Given the description of an element on the screen output the (x, y) to click on. 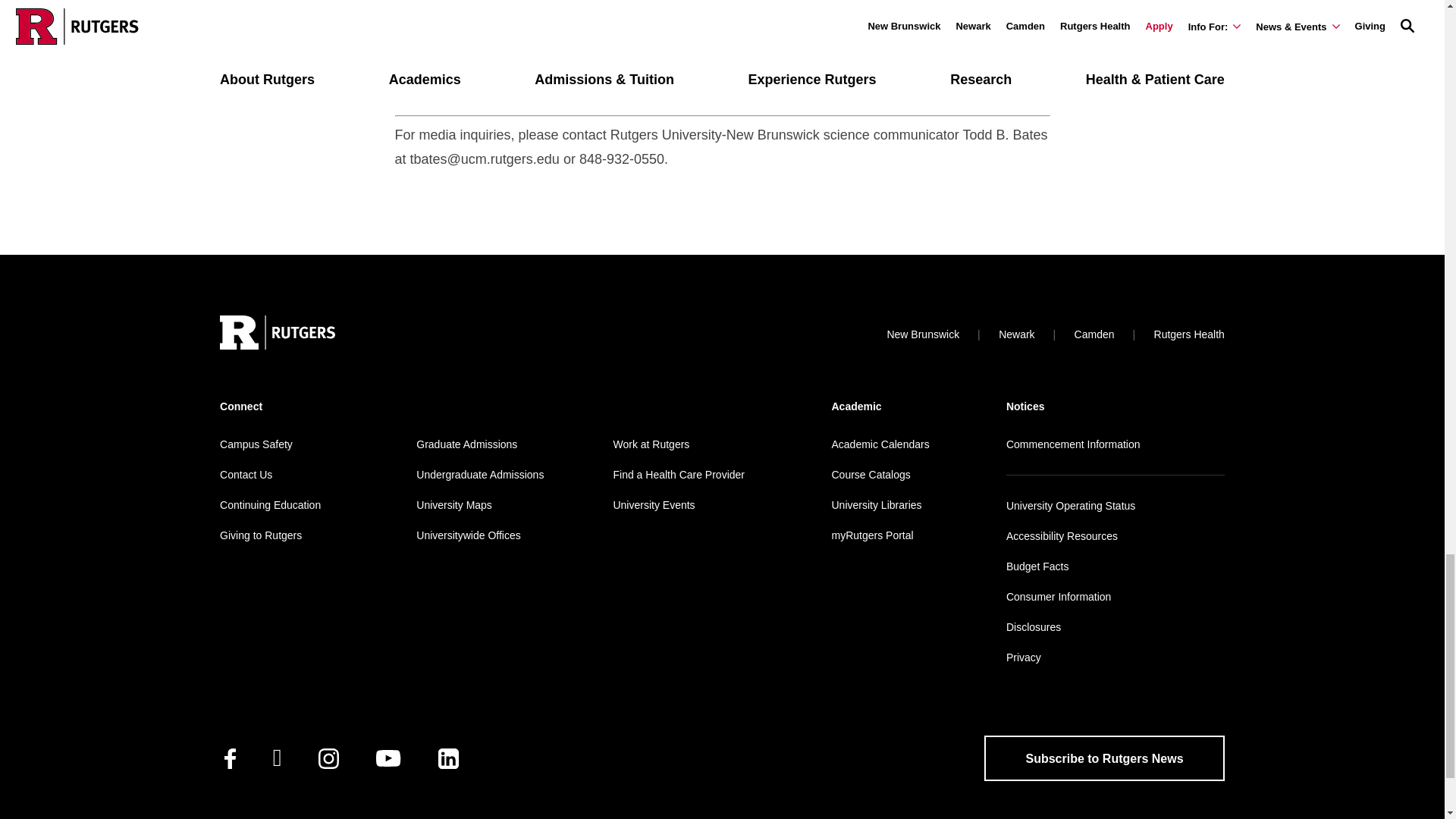
Undergraduate Admissions (479, 474)
Graduate Admissions (466, 444)
myRutgers Portal (871, 535)
Academic Calendars (879, 444)
Campus Safety (255, 444)
University Maps (454, 504)
Consumer Information (1059, 596)
Continuing Education (269, 504)
Disclosures  (1033, 626)
Giving to Rutgers (260, 535)
Course Catalogs (870, 474)
Budget Facts (1037, 566)
Work at Rutgers (650, 444)
University Operating Status (1070, 505)
Accessibility Resources (1062, 535)
